Given the description of an element on the screen output the (x, y) to click on. 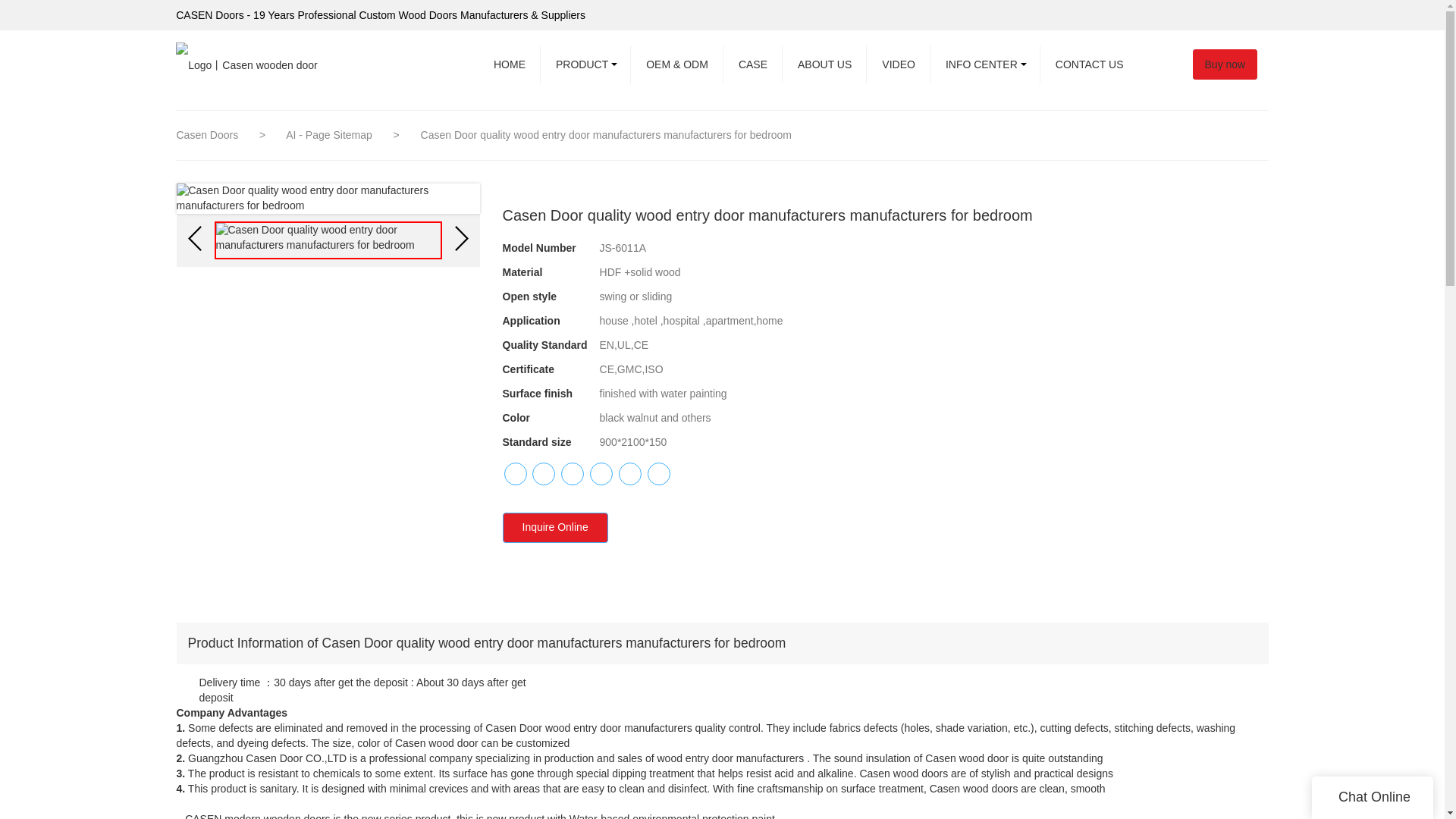
HOME (509, 64)
PRODUCT (585, 64)
AI - Page Sitemap (330, 134)
VIDEO (898, 64)
CONTACT US (1089, 64)
Inquire Online (554, 527)
INFO CENTER (985, 64)
Buy now     (1231, 64)
ABOUT US (824, 64)
Casen Doors (207, 134)
